Given the description of an element on the screen output the (x, y) to click on. 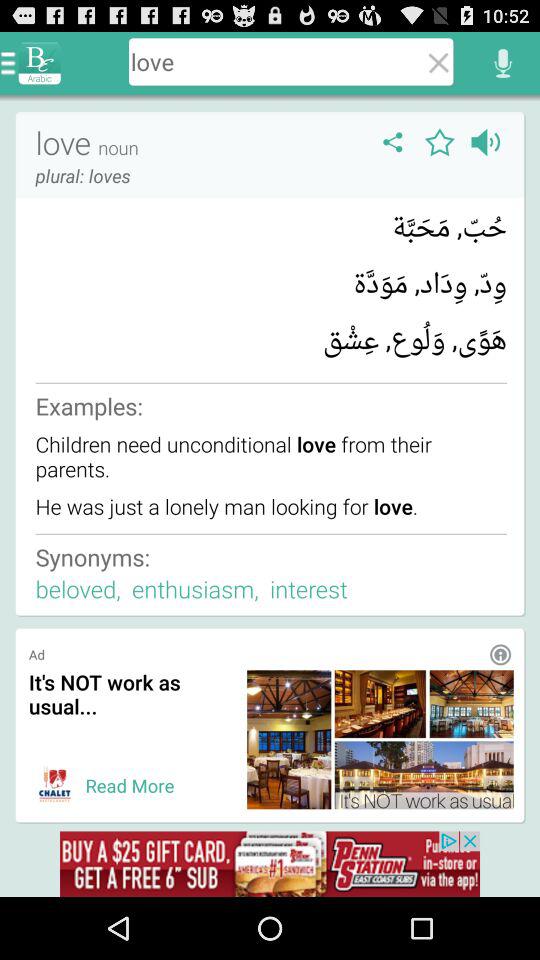
add banner (54, 785)
